Given the description of an element on the screen output the (x, y) to click on. 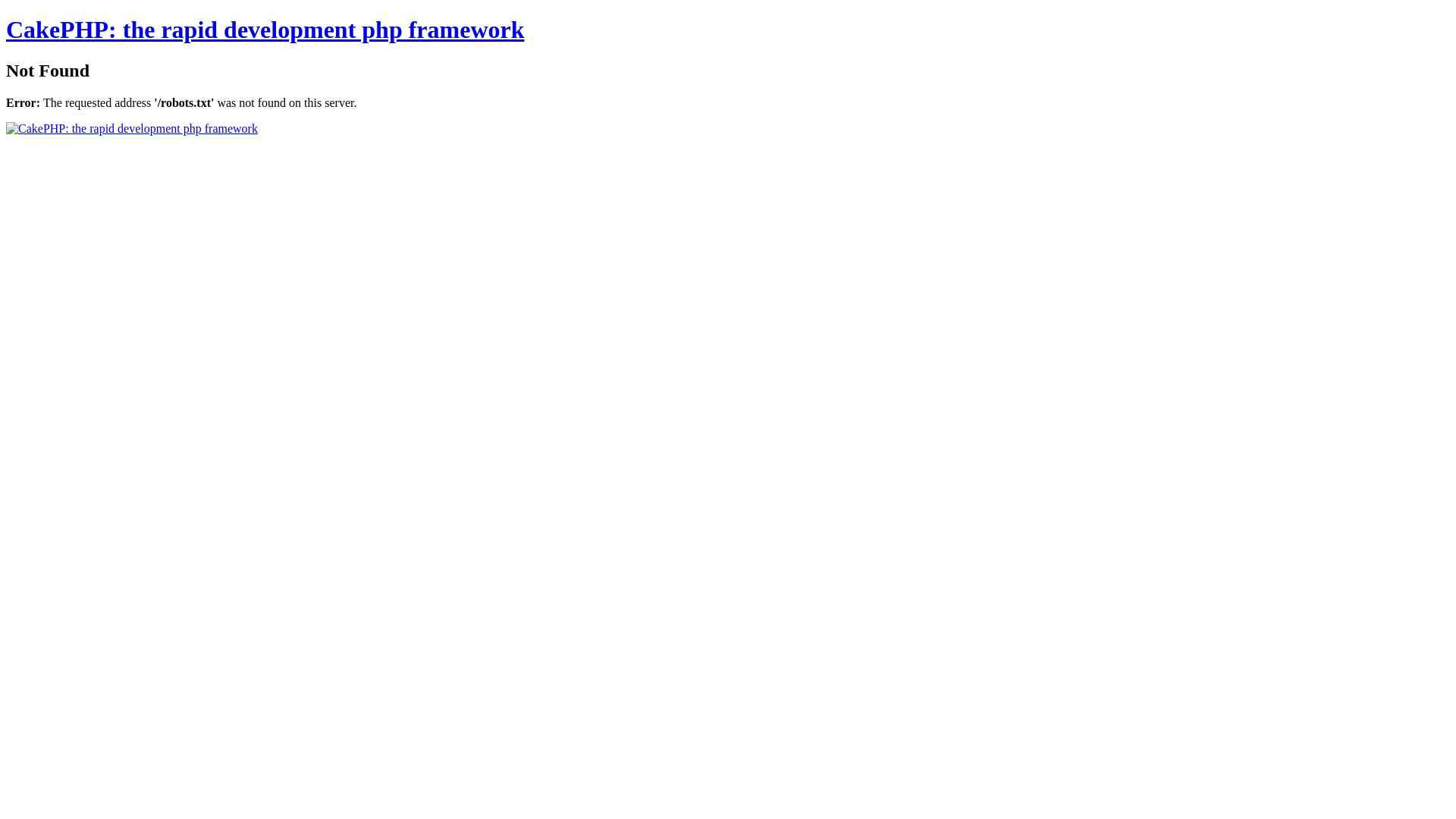
CakePHP: the rapid development php framework Element type: text (265, 29)
